Given the description of an element on the screen output the (x, y) to click on. 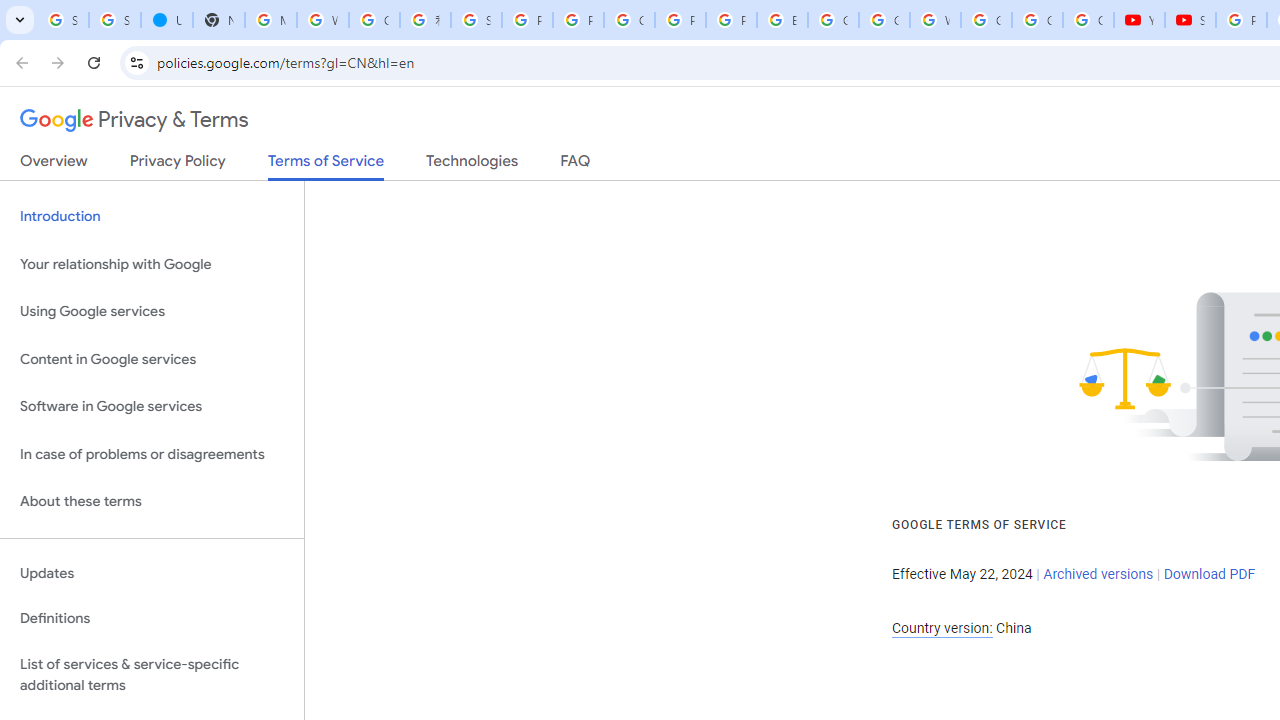
Country version: (942, 628)
USA TODAY (166, 20)
Who is my administrator? - Google Account Help (323, 20)
New Tab (218, 20)
Sign in - Google Accounts (114, 20)
Software in Google services (152, 407)
